Given the description of an element on the screen output the (x, y) to click on. 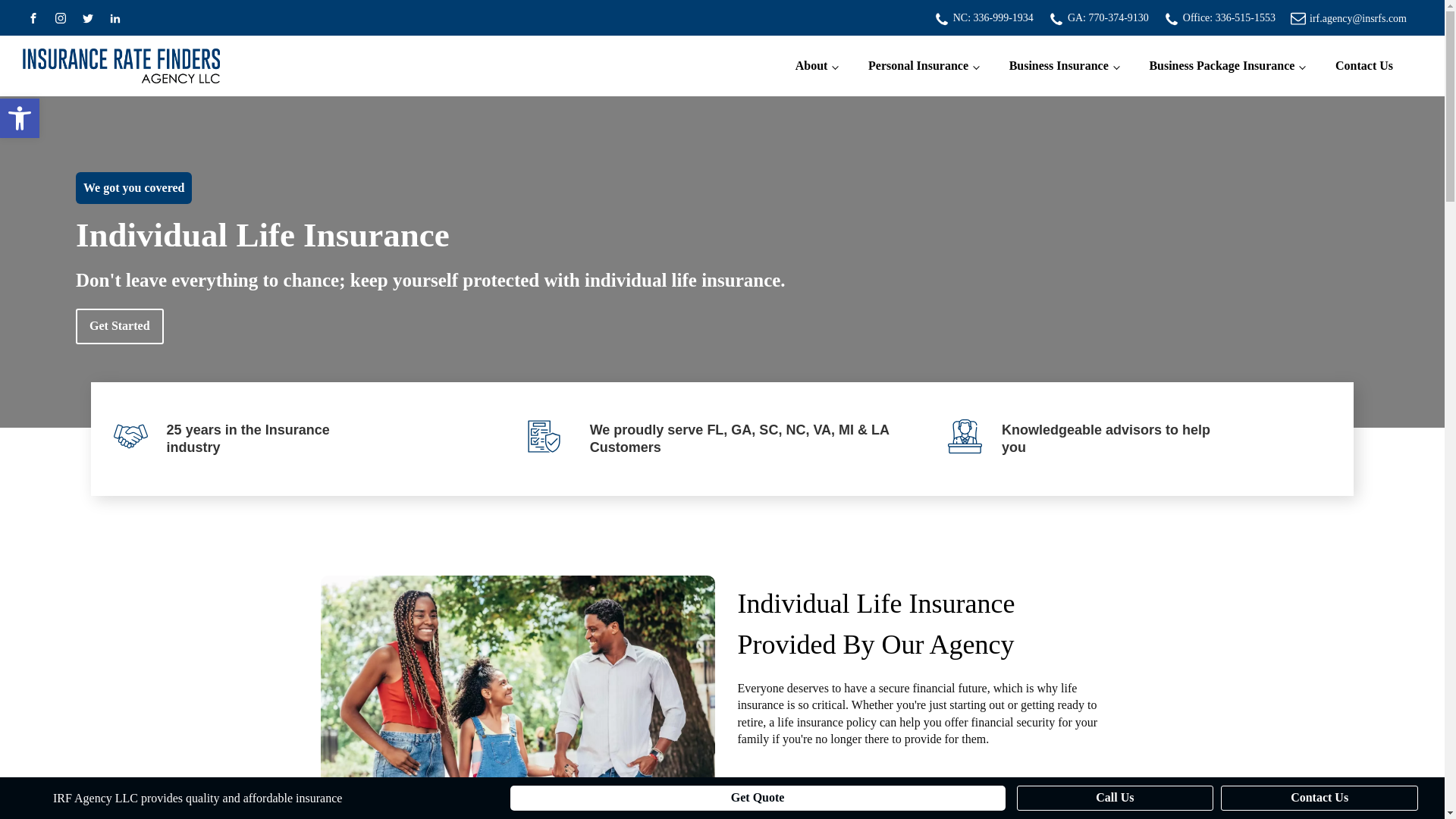
About (816, 65)
Accessibility Tools (19, 118)
Office: 336-515-1553 (1228, 17)
Personal Insurance (923, 65)
Business Insurance (1064, 65)
GA: 770-374-9130 (1107, 17)
Get Started (119, 325)
Contact Us (1363, 65)
NC: 336-999-1934 (993, 17)
Accessibility Tools (19, 118)
Business Package Insurance (1227, 65)
